Given the description of an element on the screen output the (x, y) to click on. 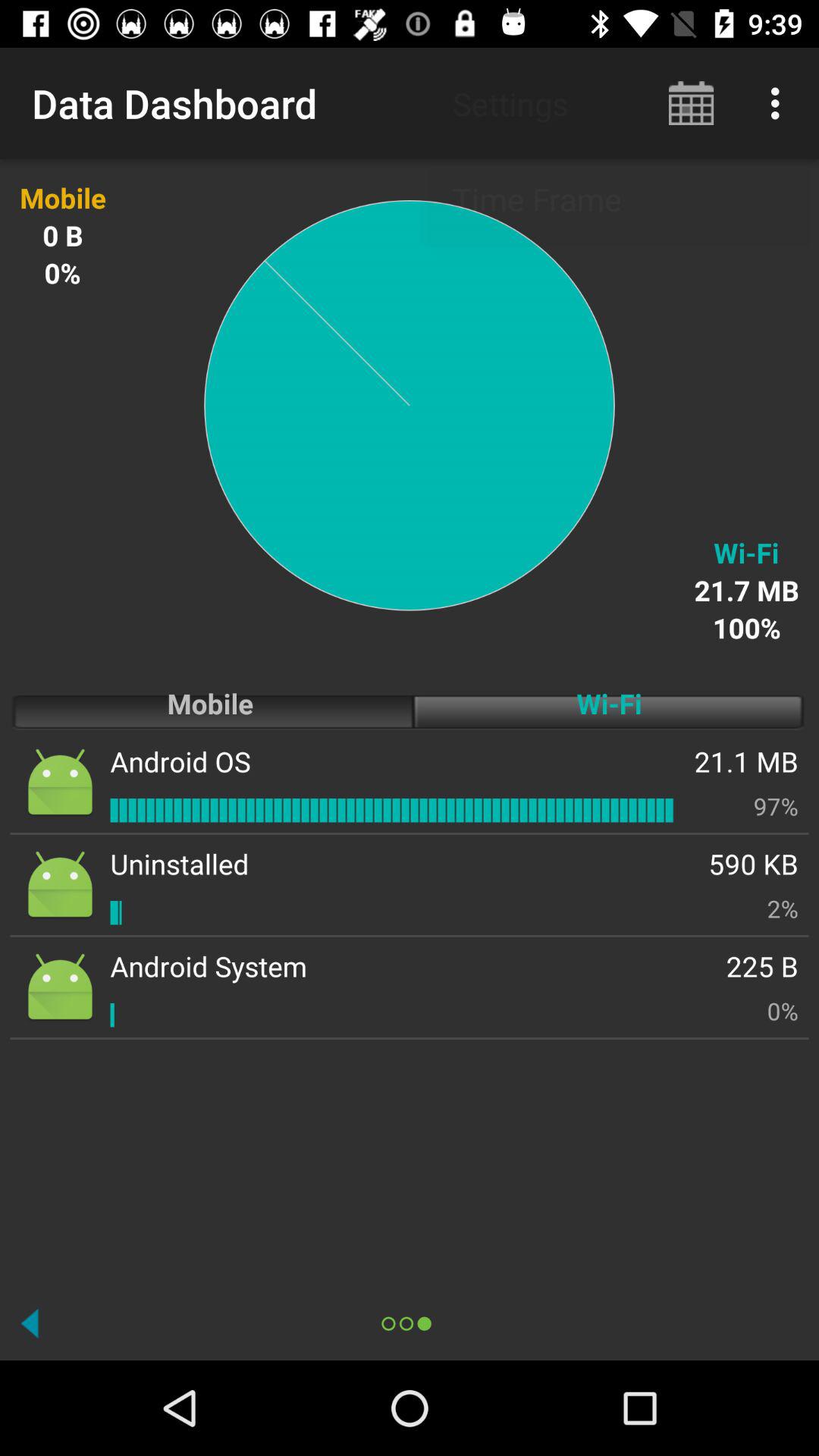
scroll until 97% item (775, 805)
